Given the description of an element on the screen output the (x, y) to click on. 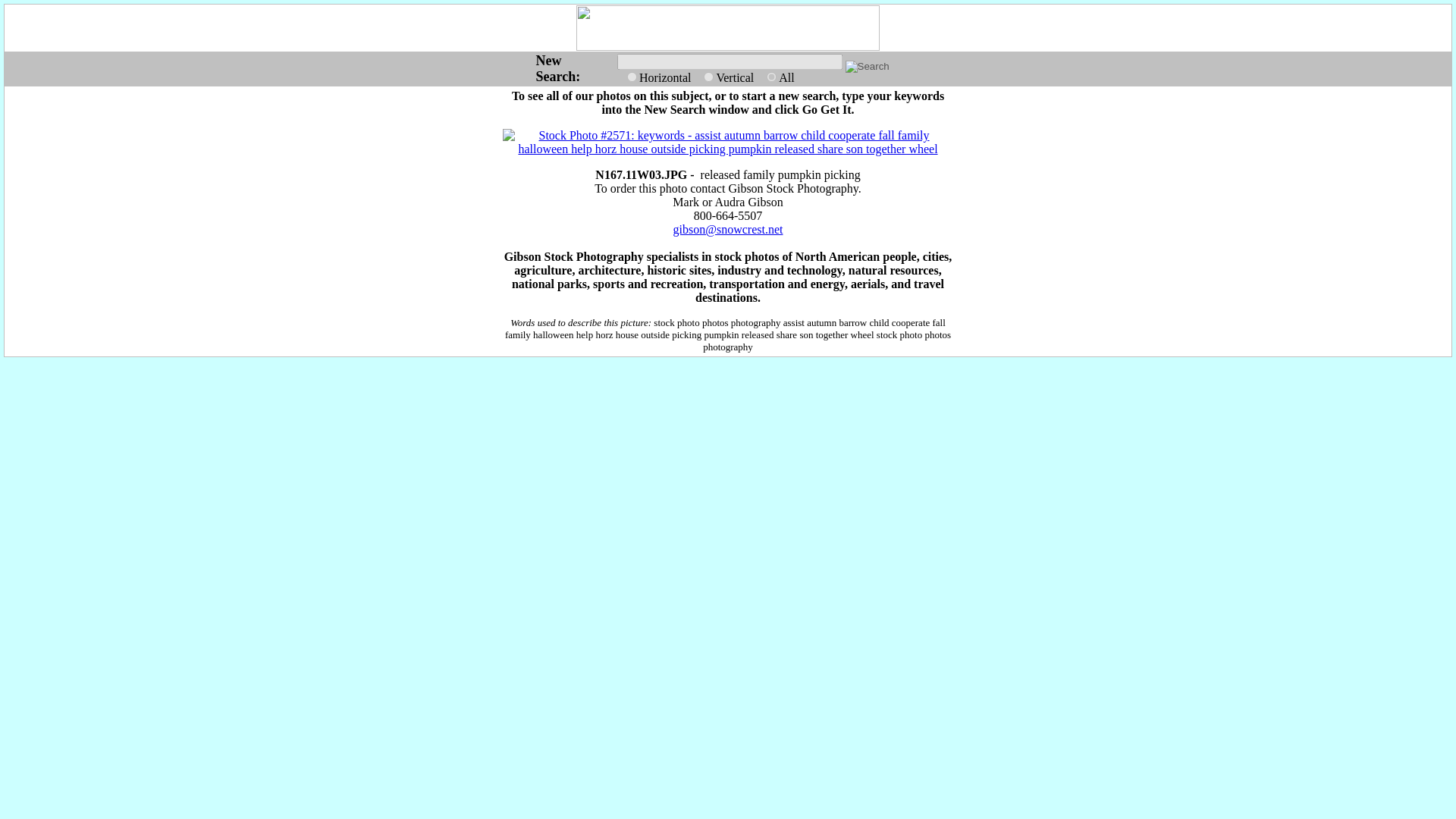
v (708, 76)
all (771, 76)
h (632, 76)
